Given the description of an element on the screen output the (x, y) to click on. 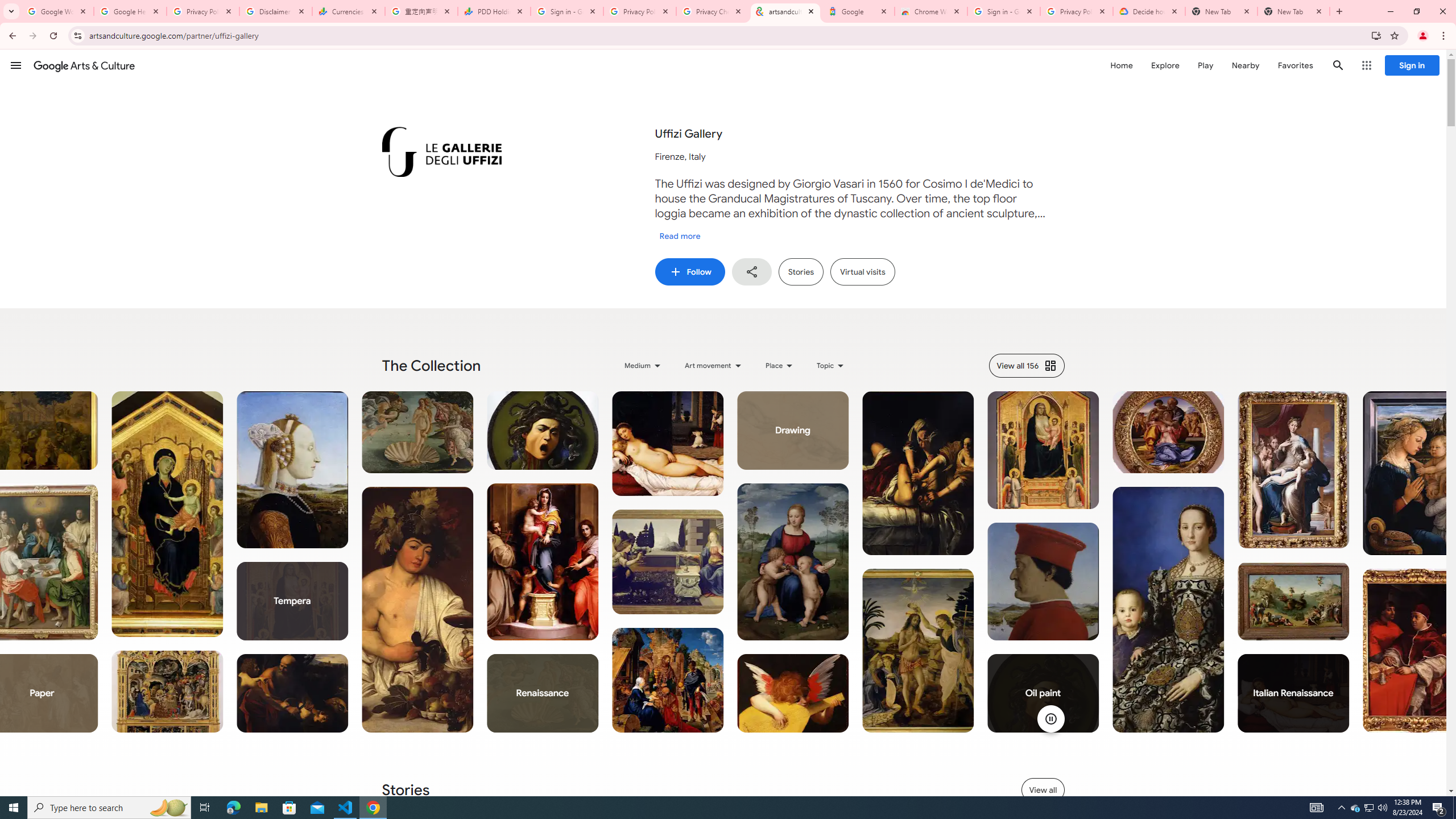
Favorites (1295, 65)
New Tab (1293, 11)
Google Workspace Admin Community (57, 11)
Read more (679, 236)
Sign in - Google Accounts (1003, 11)
Play (1205, 65)
Art movement (713, 365)
artsandculture.google.com/partner/uffizi-gallery (785, 11)
Explore (1164, 65)
